Given the description of an element on the screen output the (x, y) to click on. 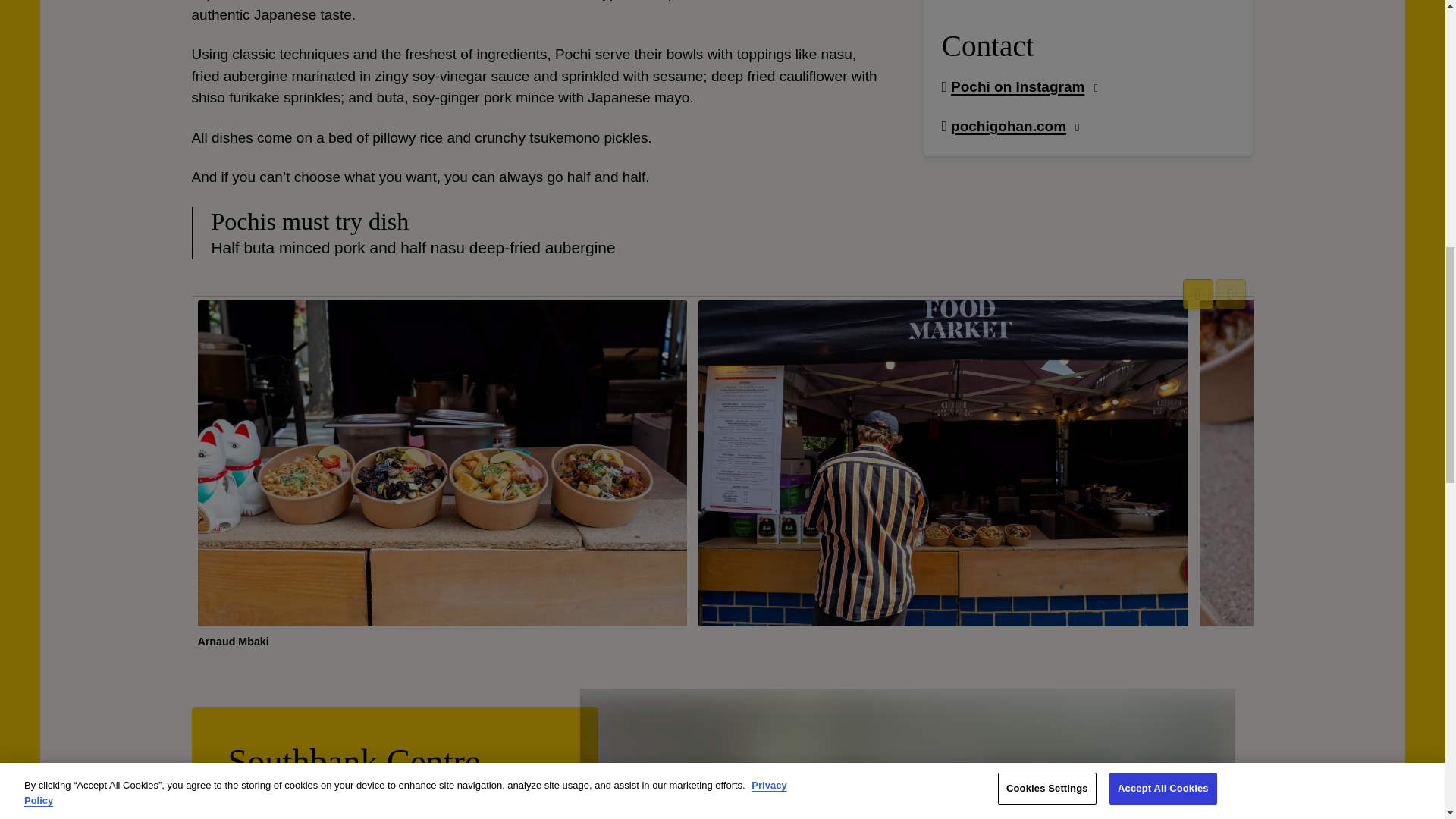
Kanji (288, 756)
Southbank Centre Food Market 2024 (903, 756)
